Given the description of an element on the screen output the (x, y) to click on. 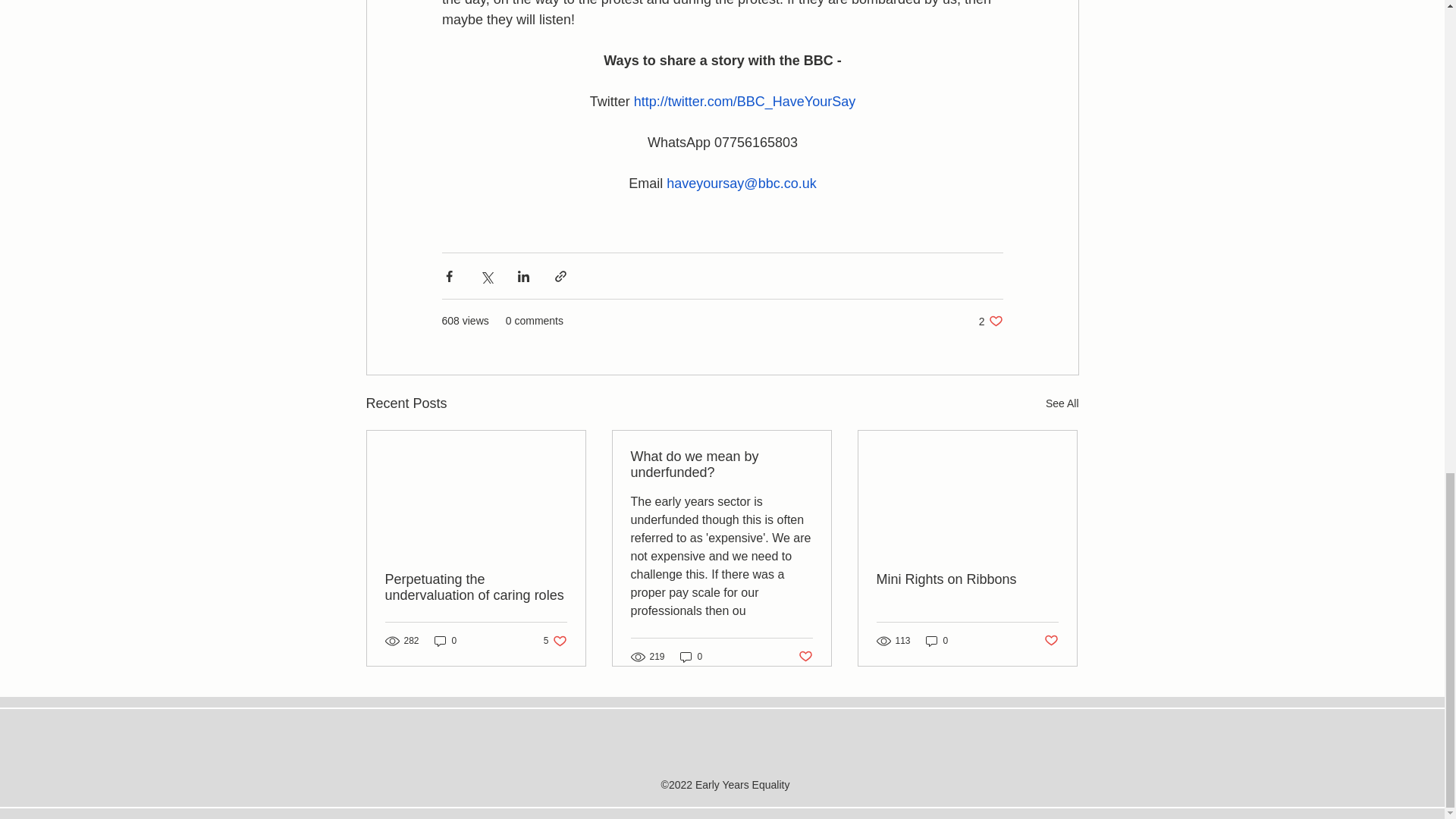
See All (1061, 403)
What do we mean by underfunded? (721, 464)
Post not marked as liked (1050, 641)
Perpetuating the undervaluation of caring roles (476, 587)
0 (937, 640)
0 (990, 320)
0 (691, 657)
Post not marked as liked (445, 640)
Mini Rights on Ribbons (804, 656)
